Given the description of an element on the screen output the (x, y) to click on. 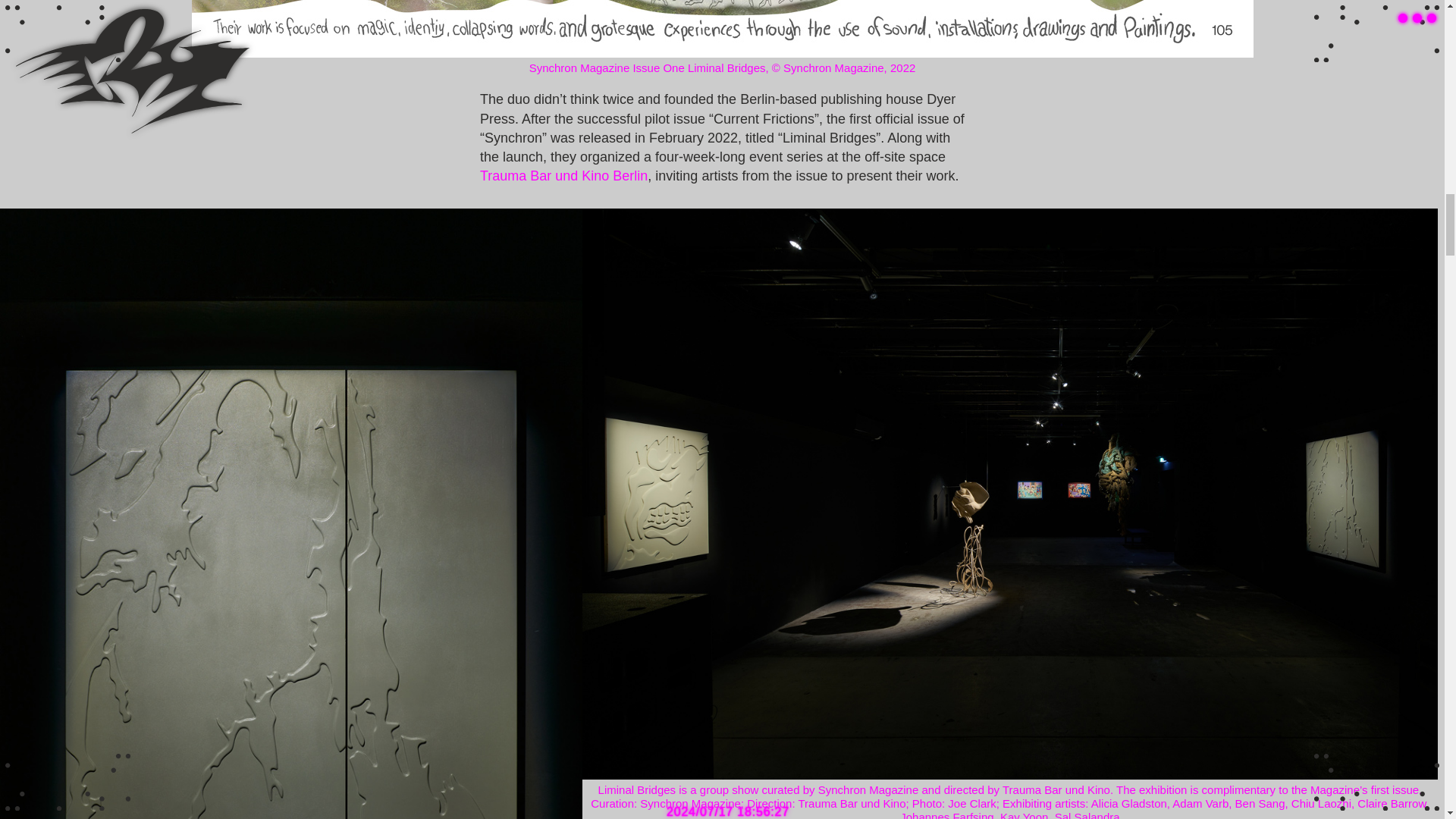
Trauma Bar und Kino Berlin (563, 175)
